Given the description of an element on the screen output the (x, y) to click on. 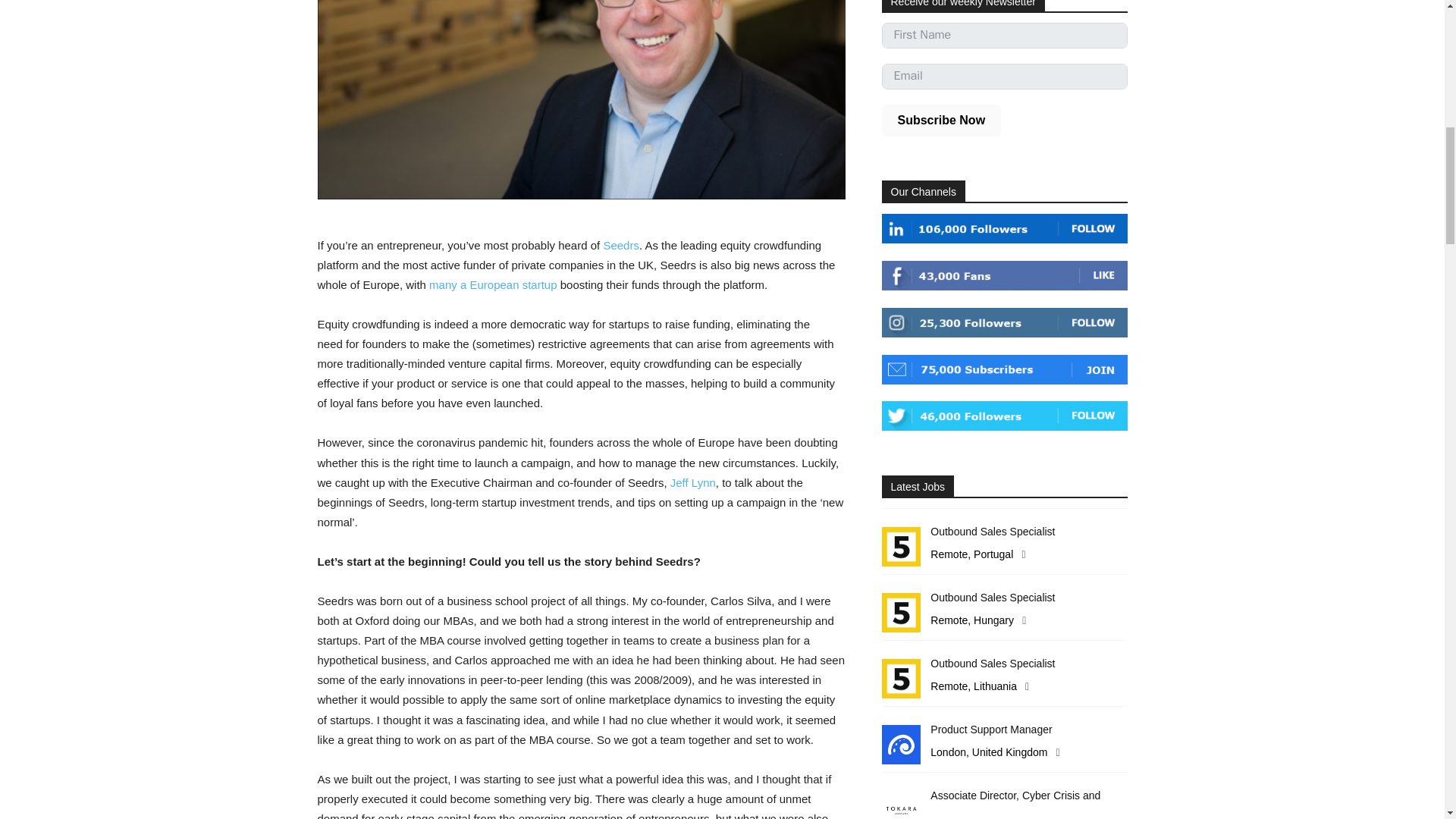
Jeff Lynn Seedrs (580, 99)
